Given the description of an element on the screen output the (x, y) to click on. 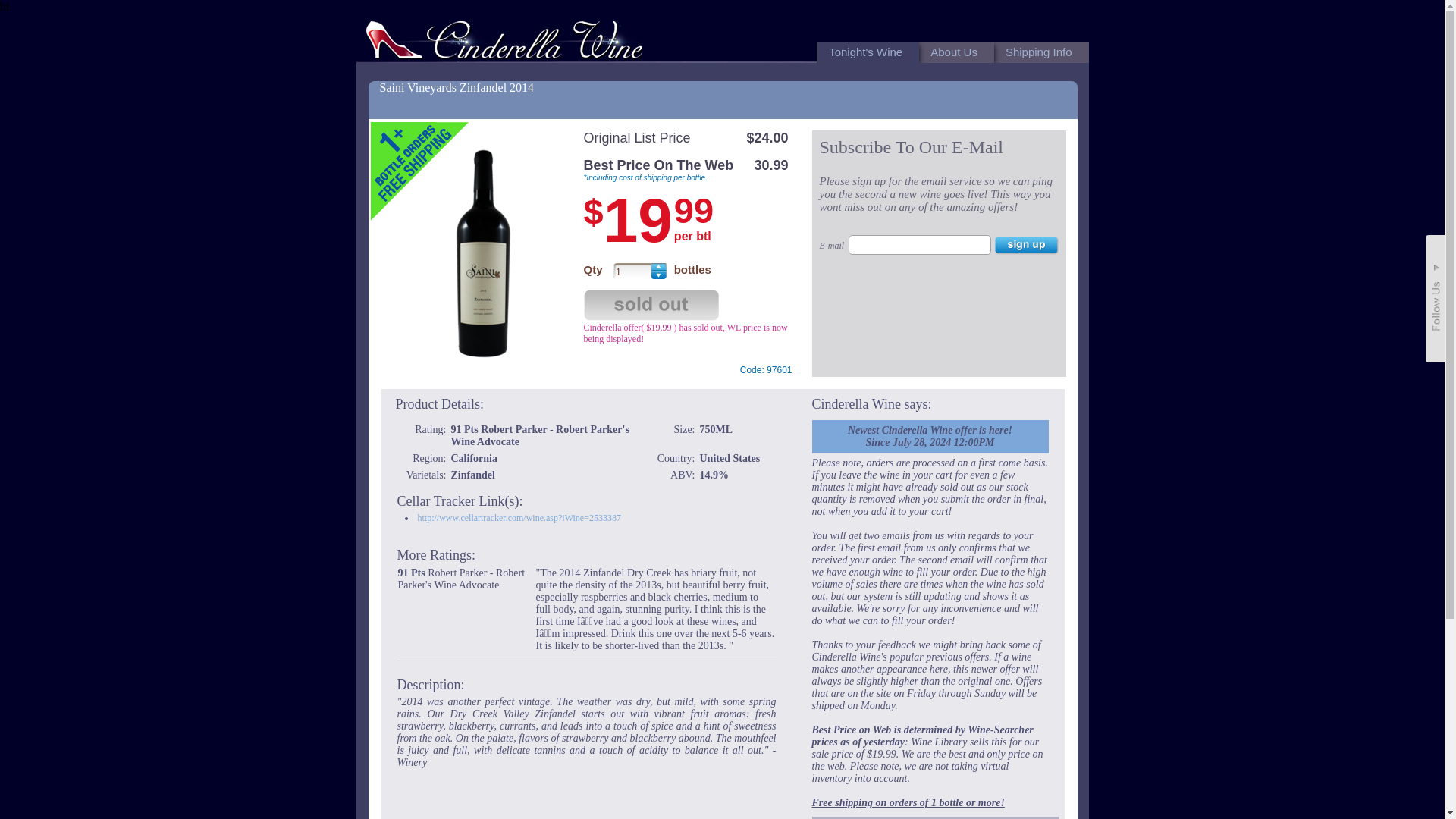
This item is sold out! (651, 305)
Ridiculously great prices, but for only 24 hours! (503, 42)
Ridiculously great prices, but for only 24 hours! (507, 35)
Saini Vineyards Zinfandel 2014 (456, 87)
Ridiculously great prices, but for only 24 hours! (503, 39)
1 (631, 269)
